Given the description of an element on the screen output the (x, y) to click on. 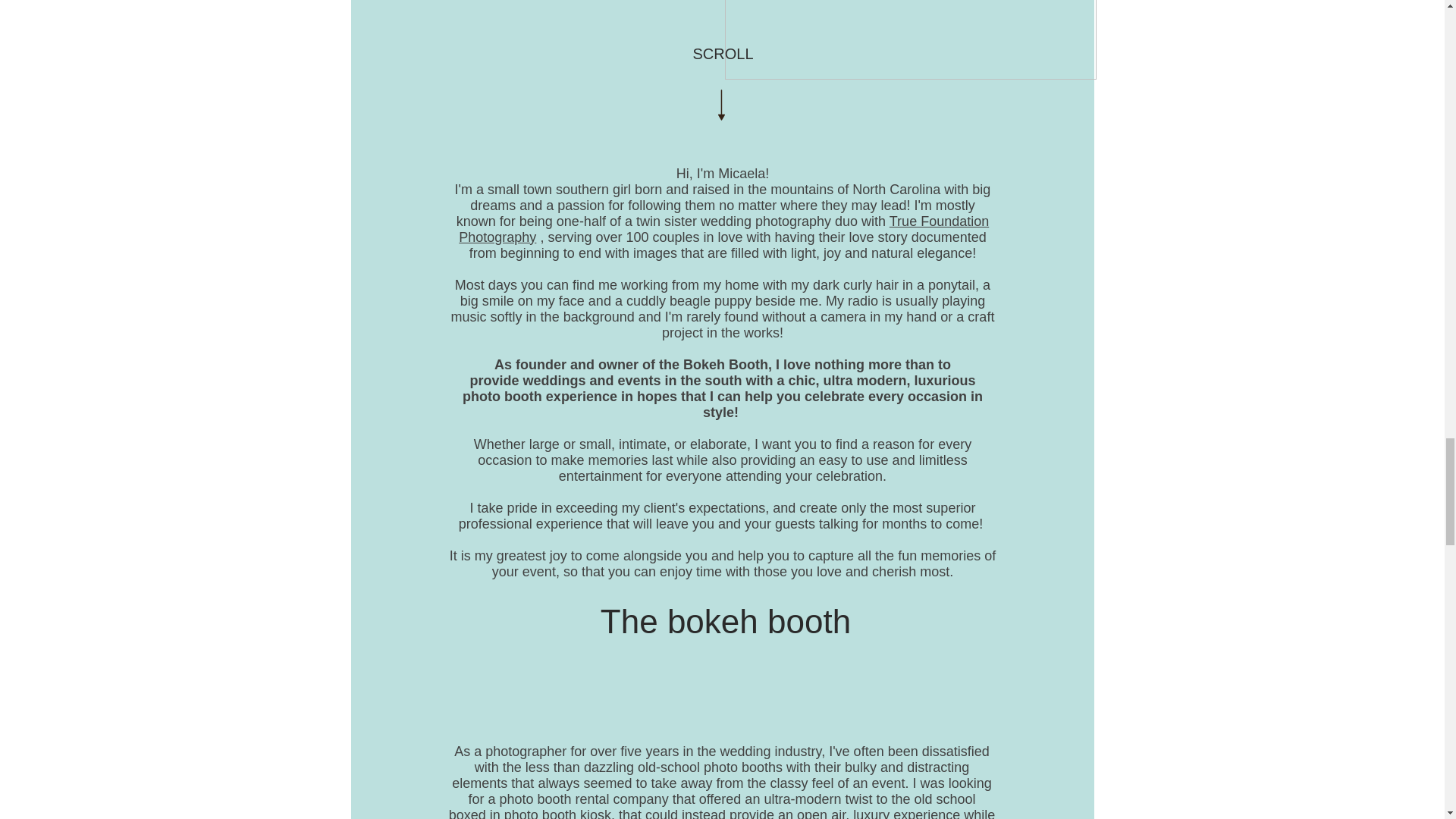
True Foundation Photography (723, 228)
